Given the description of an element on the screen output the (x, y) to click on. 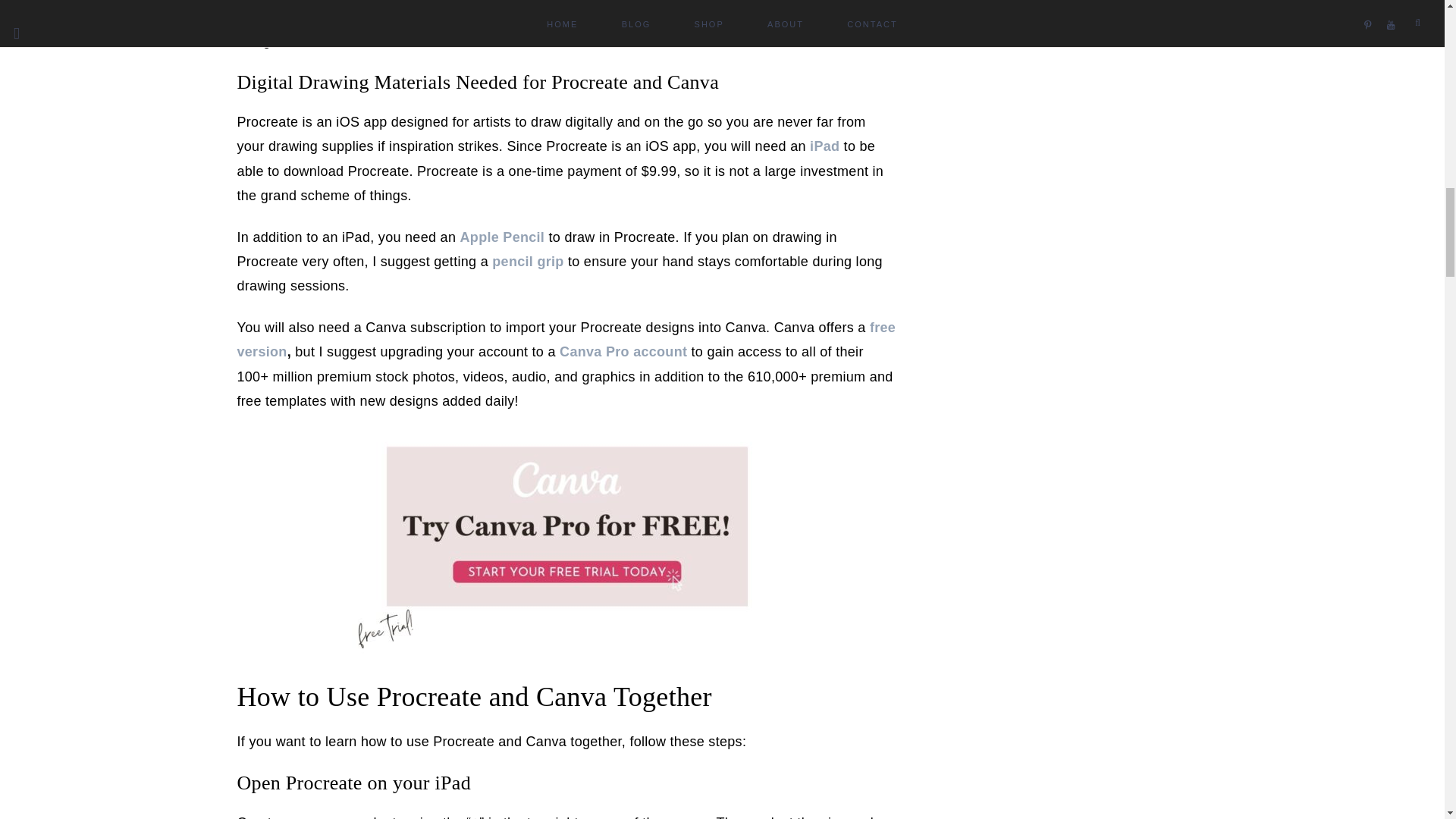
Apple Pencil (502, 237)
Canva Pro account (623, 351)
iPad (824, 145)
free version (565, 339)
pencil grip (527, 261)
